Given the description of an element on the screen output the (x, y) to click on. 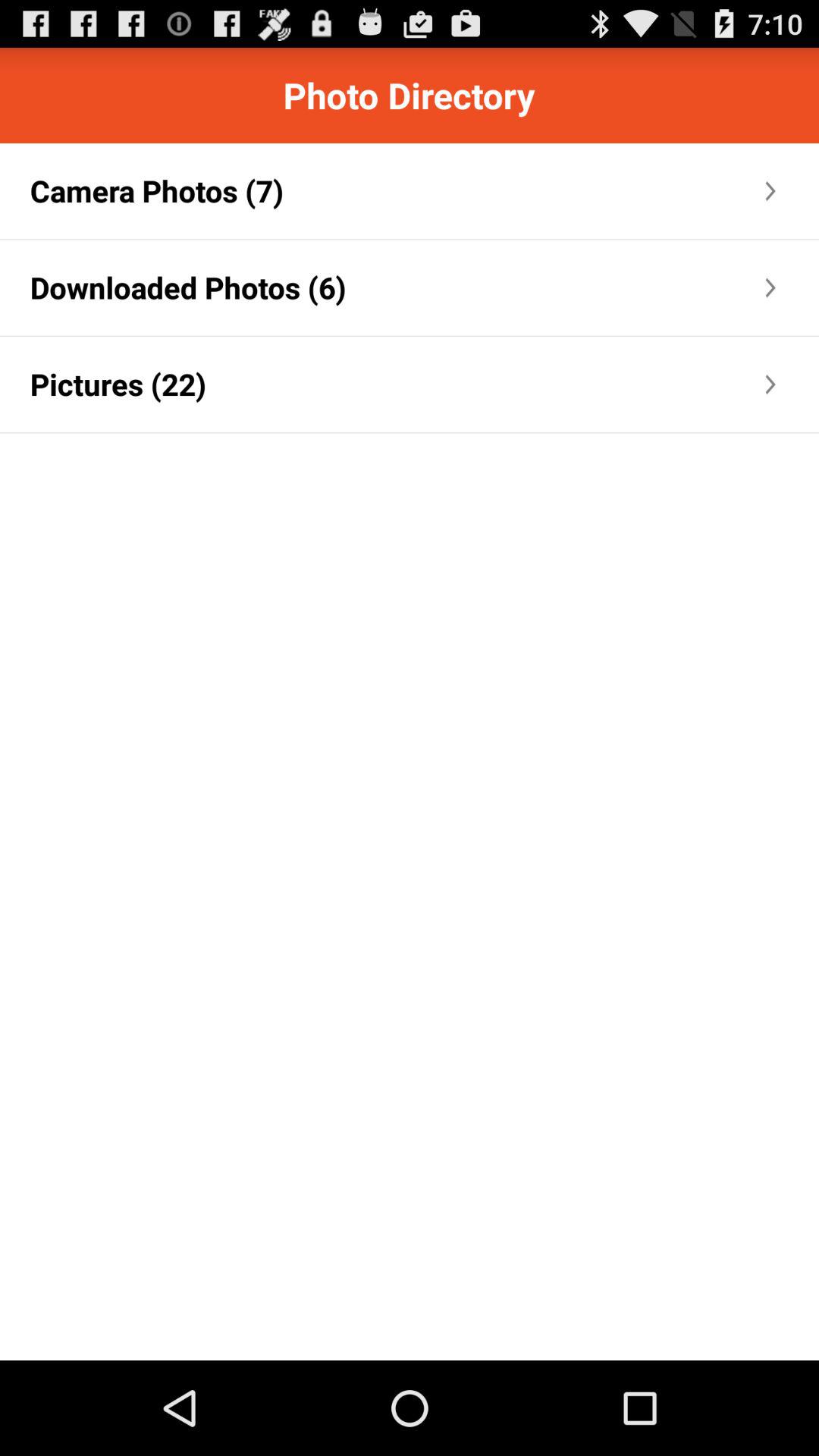
scroll until camera photos (7) item (156, 190)
